Given the description of an element on the screen output the (x, y) to click on. 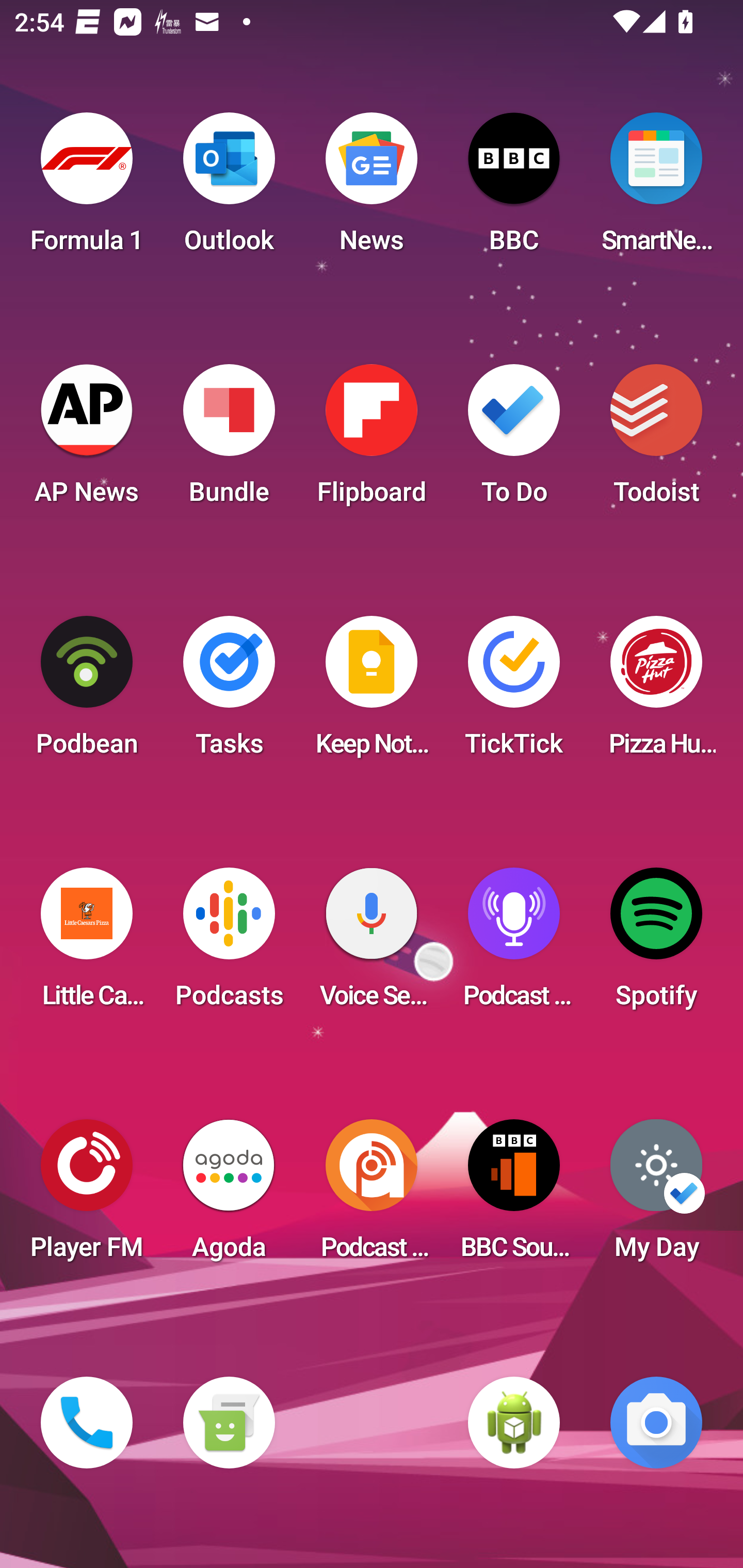
Formula 1 (86, 188)
Outlook (228, 188)
News (371, 188)
BBC (513, 188)
SmartNews (656, 188)
AP News (86, 440)
Bundle (228, 440)
Flipboard (371, 440)
To Do (513, 440)
Todoist (656, 440)
Podbean (86, 692)
Tasks (228, 692)
Keep Notes (371, 692)
TickTick (513, 692)
Pizza Hut HK & Macau (656, 692)
Little Caesars Pizza (86, 943)
Podcasts (228, 943)
Voice Search (371, 943)
Podcast Player (513, 943)
Spotify (656, 943)
Player FM (86, 1195)
Agoda (228, 1195)
Podcast Addict (371, 1195)
BBC Sounds (513, 1195)
My Day (656, 1195)
Phone (86, 1422)
Messaging (228, 1422)
WebView Browser Tester (513, 1422)
Camera (656, 1422)
